Given the description of an element on the screen output the (x, y) to click on. 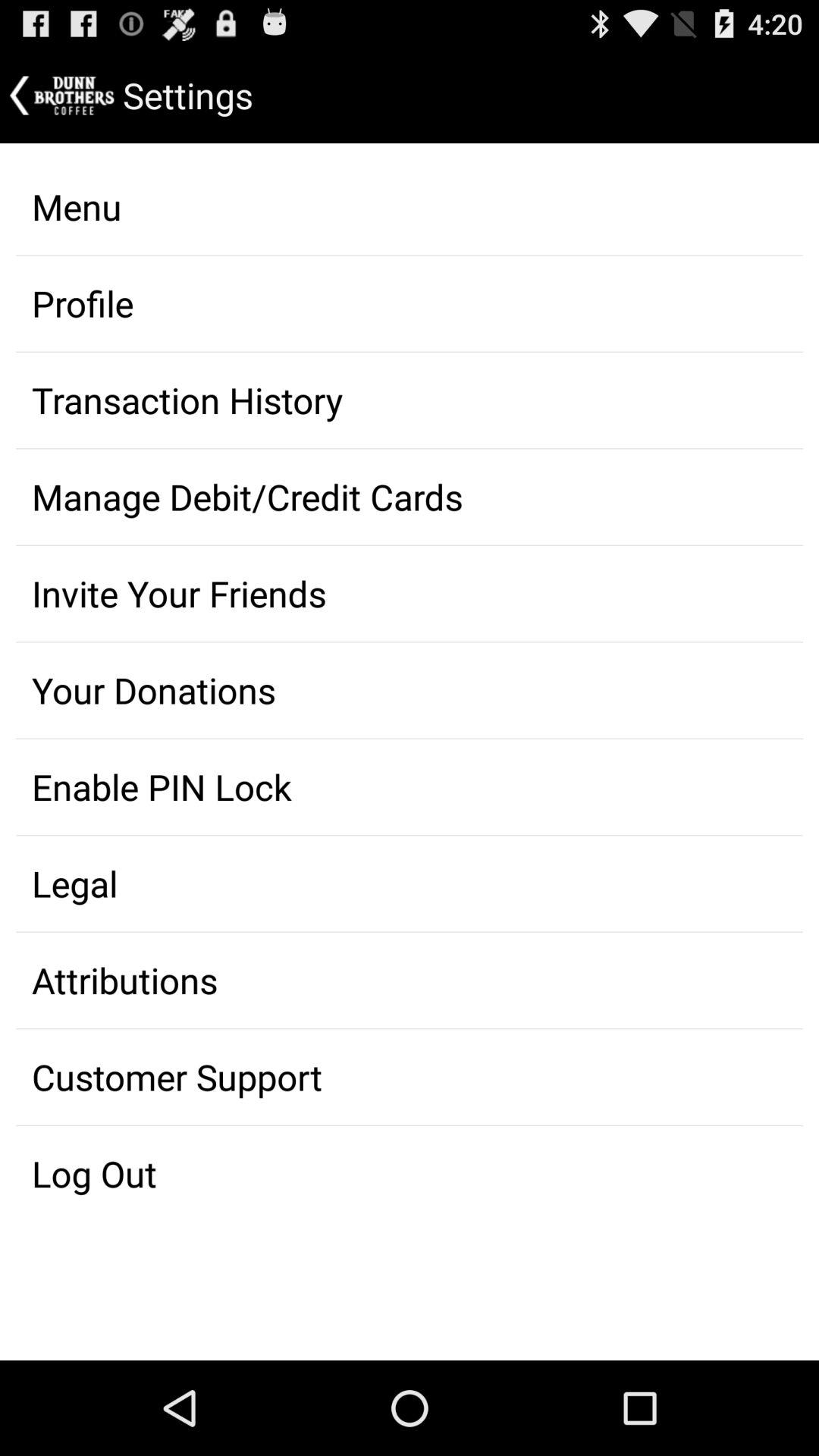
launch the item above the legal (409, 786)
